Given the description of an element on the screen output the (x, y) to click on. 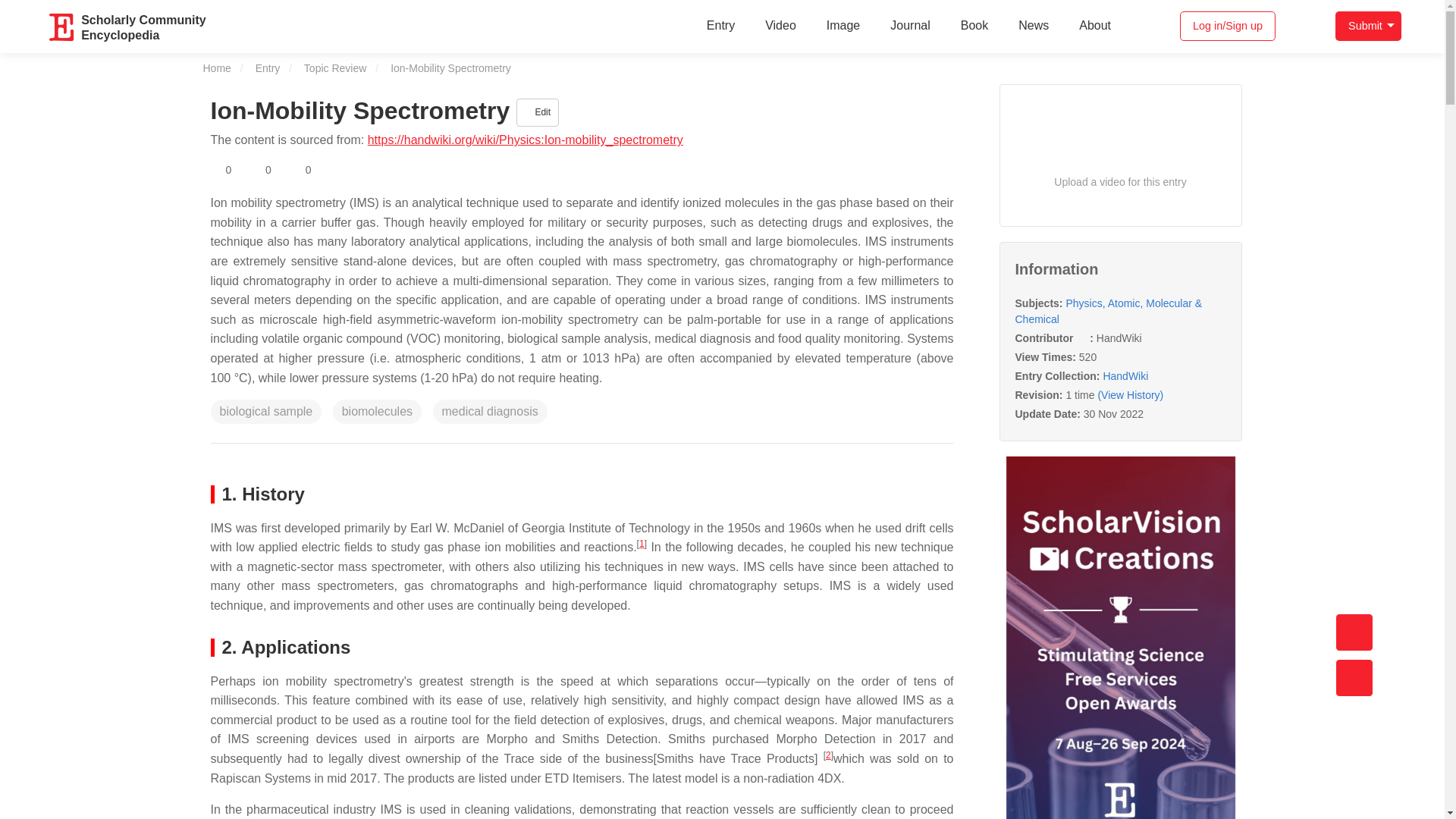
Edit (537, 112)
Video (779, 25)
Comment (300, 169)
News (1033, 25)
Journal (909, 25)
Favorite (143, 25)
Submit (221, 169)
Entry (1367, 25)
Book (720, 25)
